Given the description of an element on the screen output the (x, y) to click on. 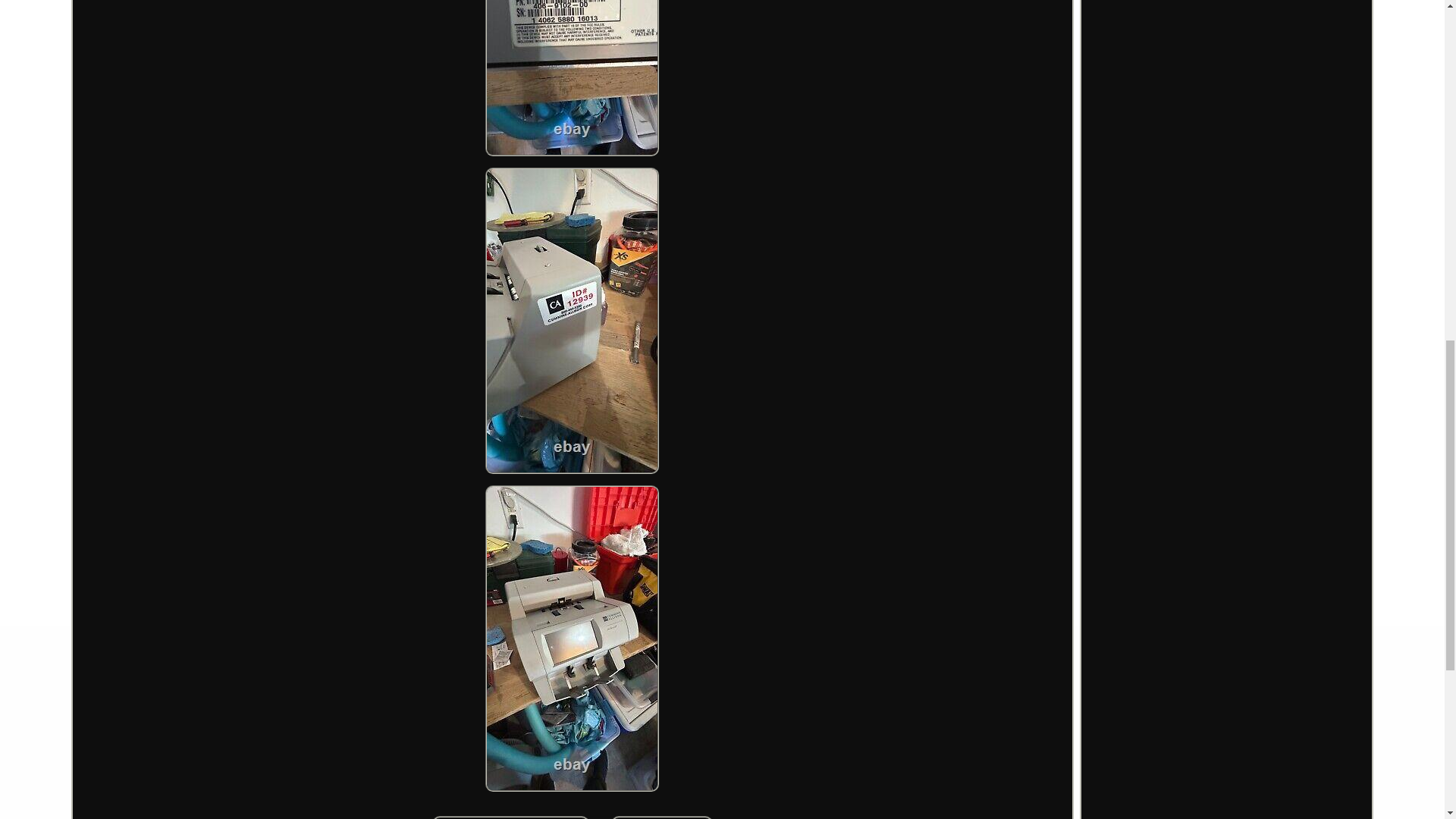
Cummins Allison JetScan Currency Counter 4062ES preowned (571, 320)
Cummins Allison JetScan Currency Counter 4062ES preowned (510, 817)
Cummins Allison JetScan Currency Counter 4062ES preowned (571, 78)
Cummins Allison JetScan Currency Counter 4062ES preowned (662, 817)
Cummins Allison JetScan Currency Counter 4062ES preowned (571, 638)
